Given the description of an element on the screen output the (x, y) to click on. 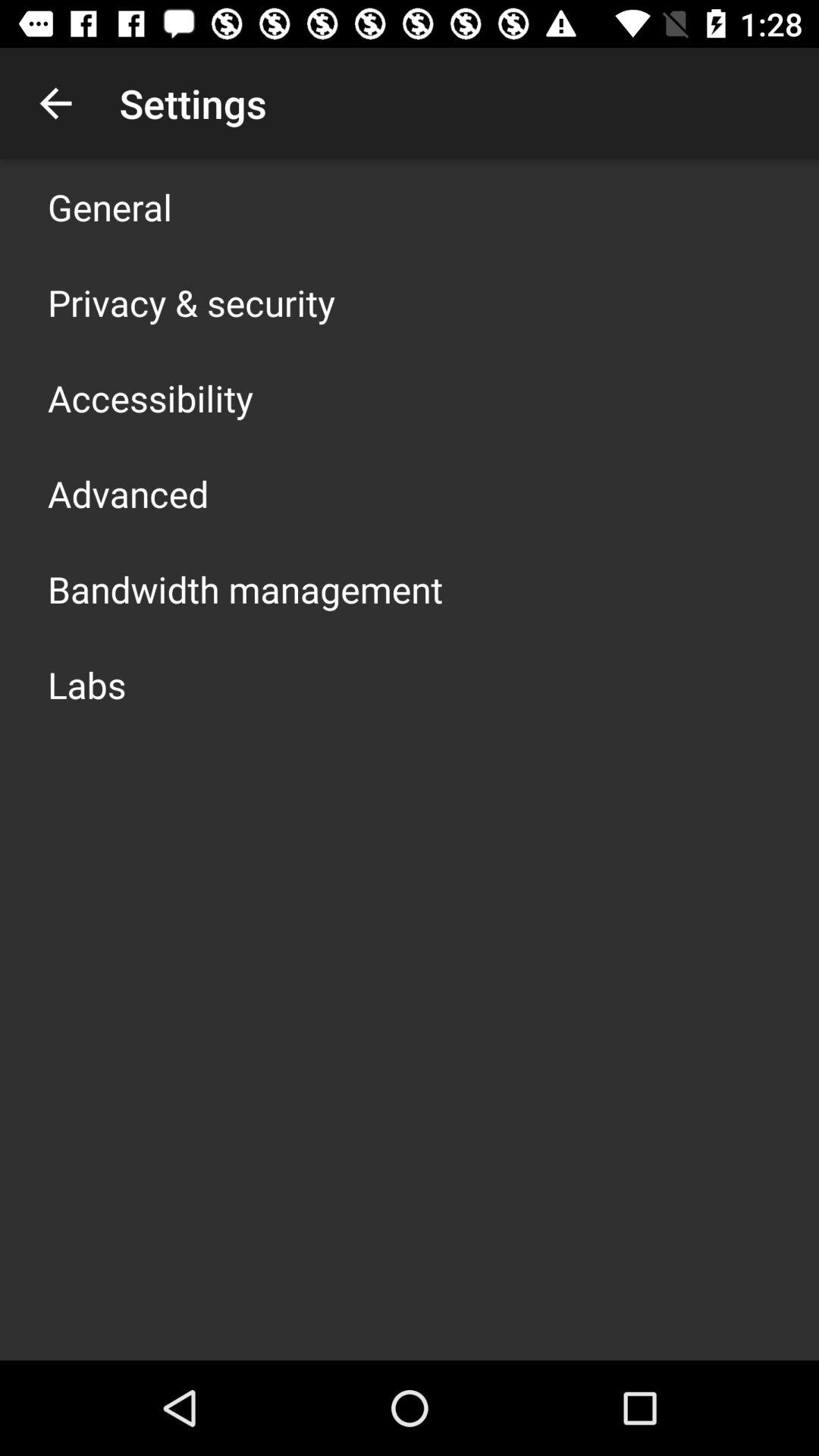
turn off icon above the accessibility app (190, 302)
